Given the description of an element on the screen output the (x, y) to click on. 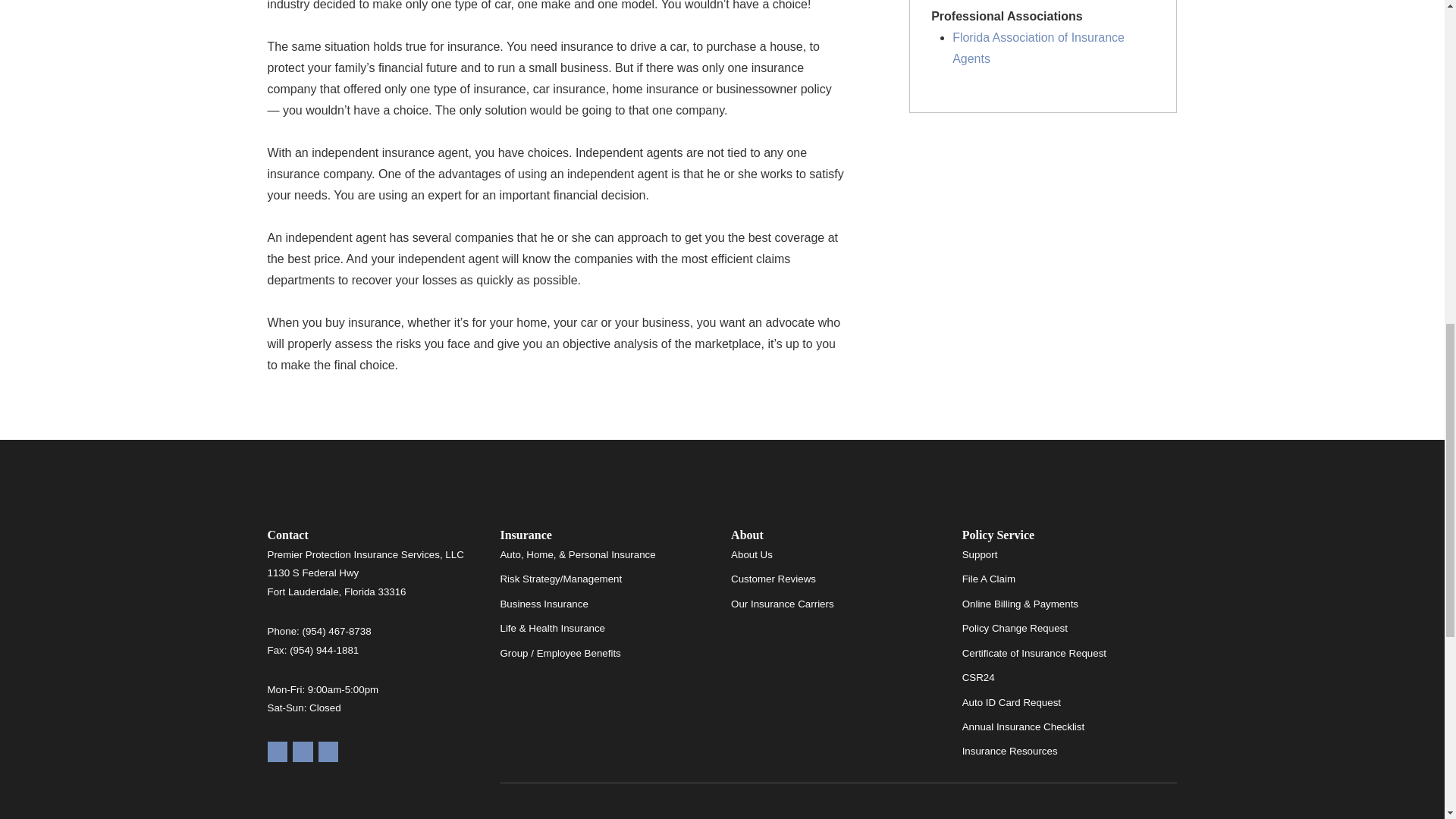
LinkedIn (328, 752)
Google Maps (276, 752)
Yelp (302, 752)
